Given the description of an element on the screen output the (x, y) to click on. 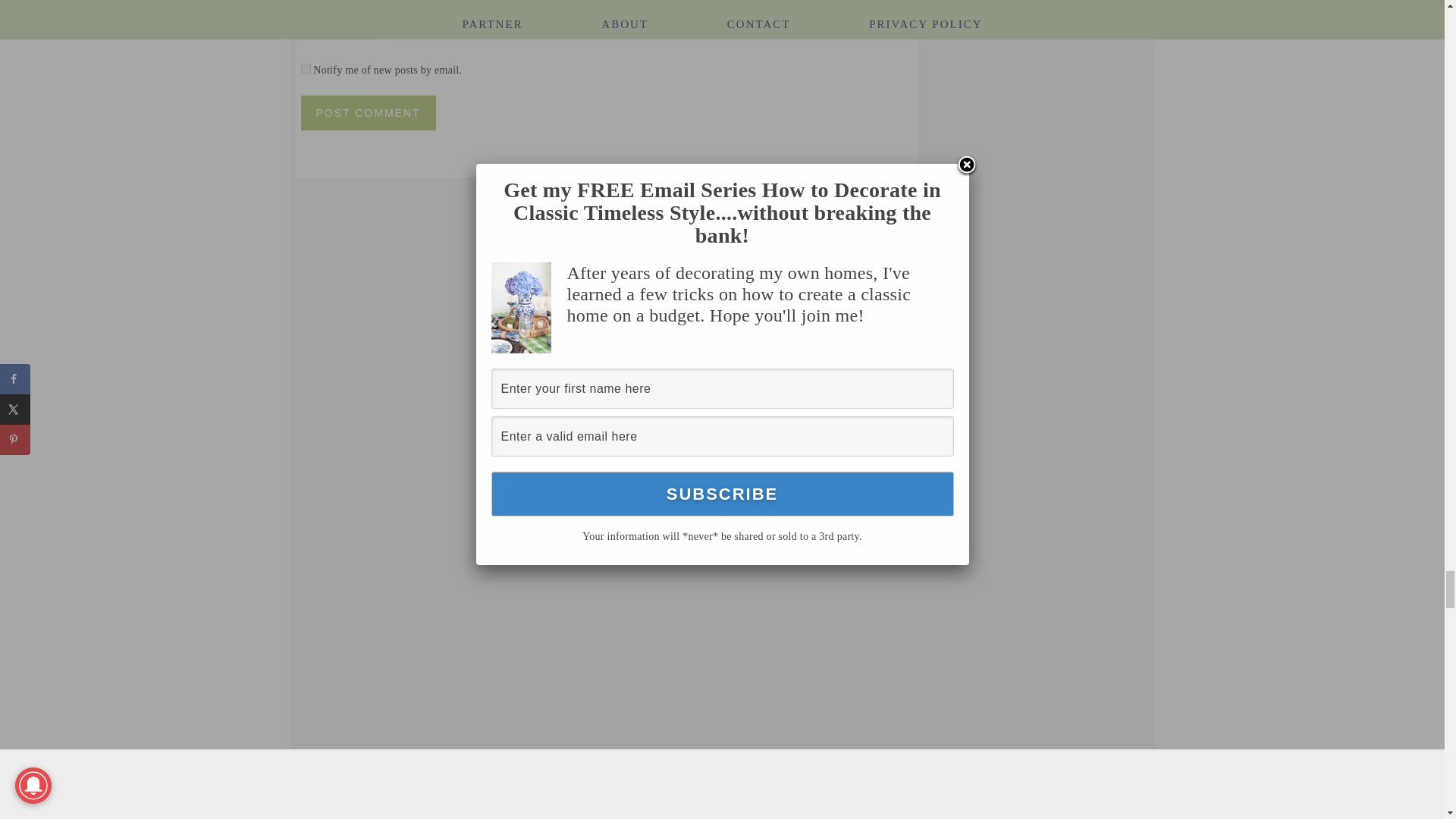
subscribe (304, 68)
Post Comment (367, 112)
subscribe (304, 28)
